Given the description of an element on the screen output the (x, y) to click on. 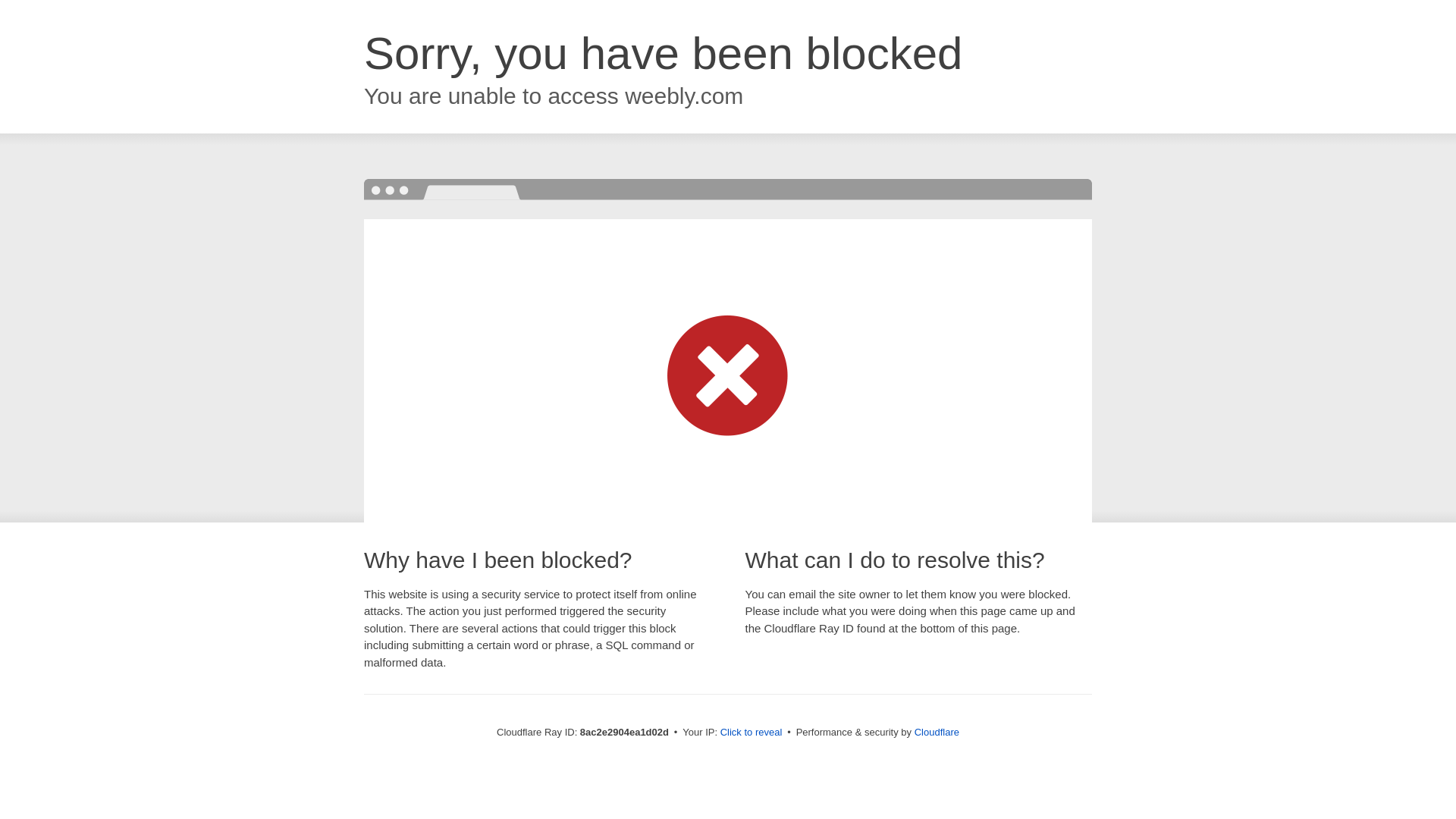
Click to reveal (751, 732)
Cloudflare (936, 731)
